Given the description of an element on the screen output the (x, y) to click on. 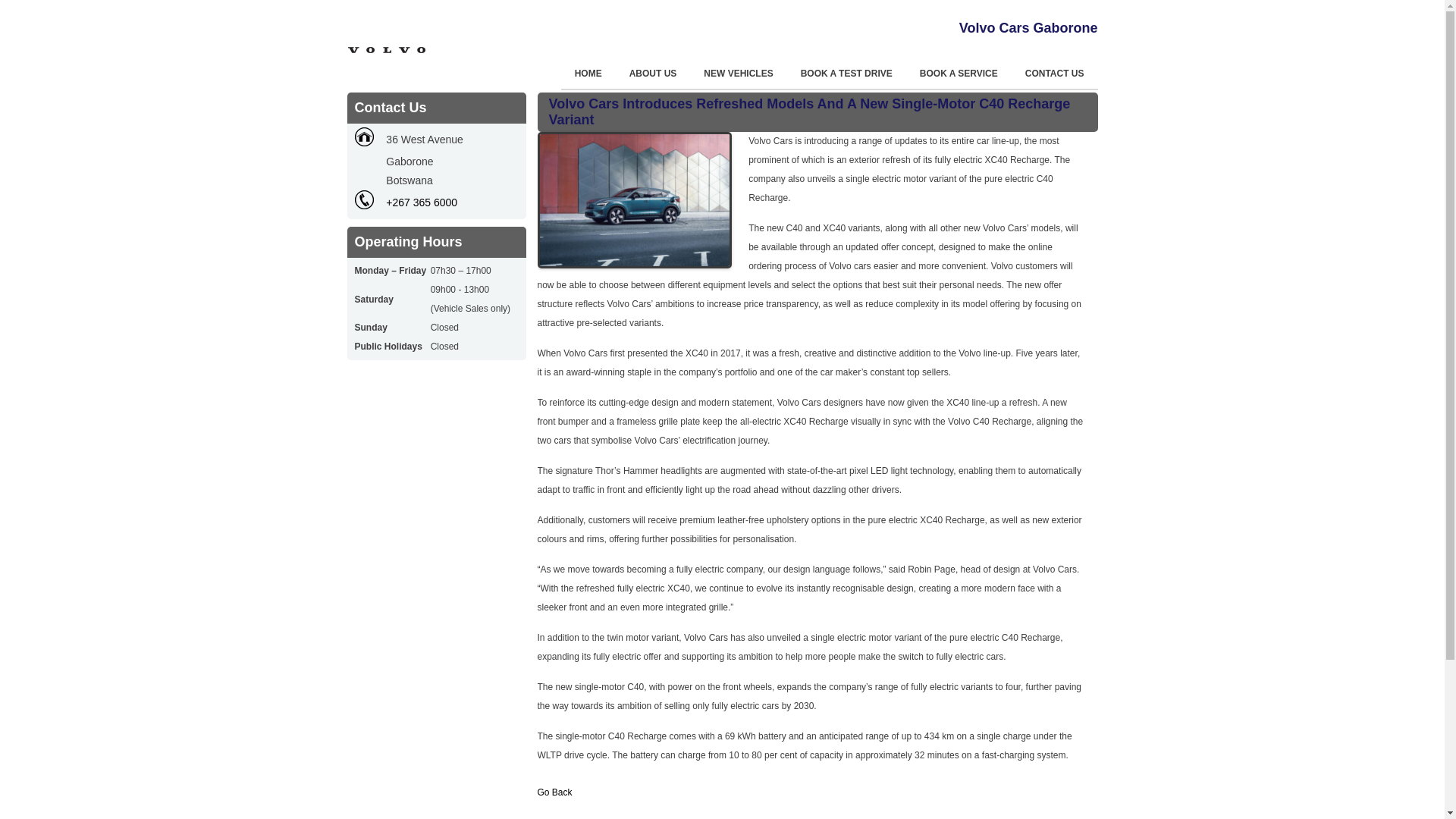
HOME Element type: text (588, 74)
BOOK A SERVICE Element type: text (958, 74)
ABOUT US Element type: text (652, 74)
BOOK A TEST DRIVE Element type: text (846, 74)
Go Back Element type: text (553, 792)
Volvo Cars Gaborone Element type: text (1028, 27)
Volvo Cars Gaborone Element type: hover (386, 43)
+267 365 6000 Element type: text (421, 202)
NEW VEHICLES Element type: text (738, 74)
CONTACT US Element type: text (1054, 74)
